Given the description of an element on the screen output the (x, y) to click on. 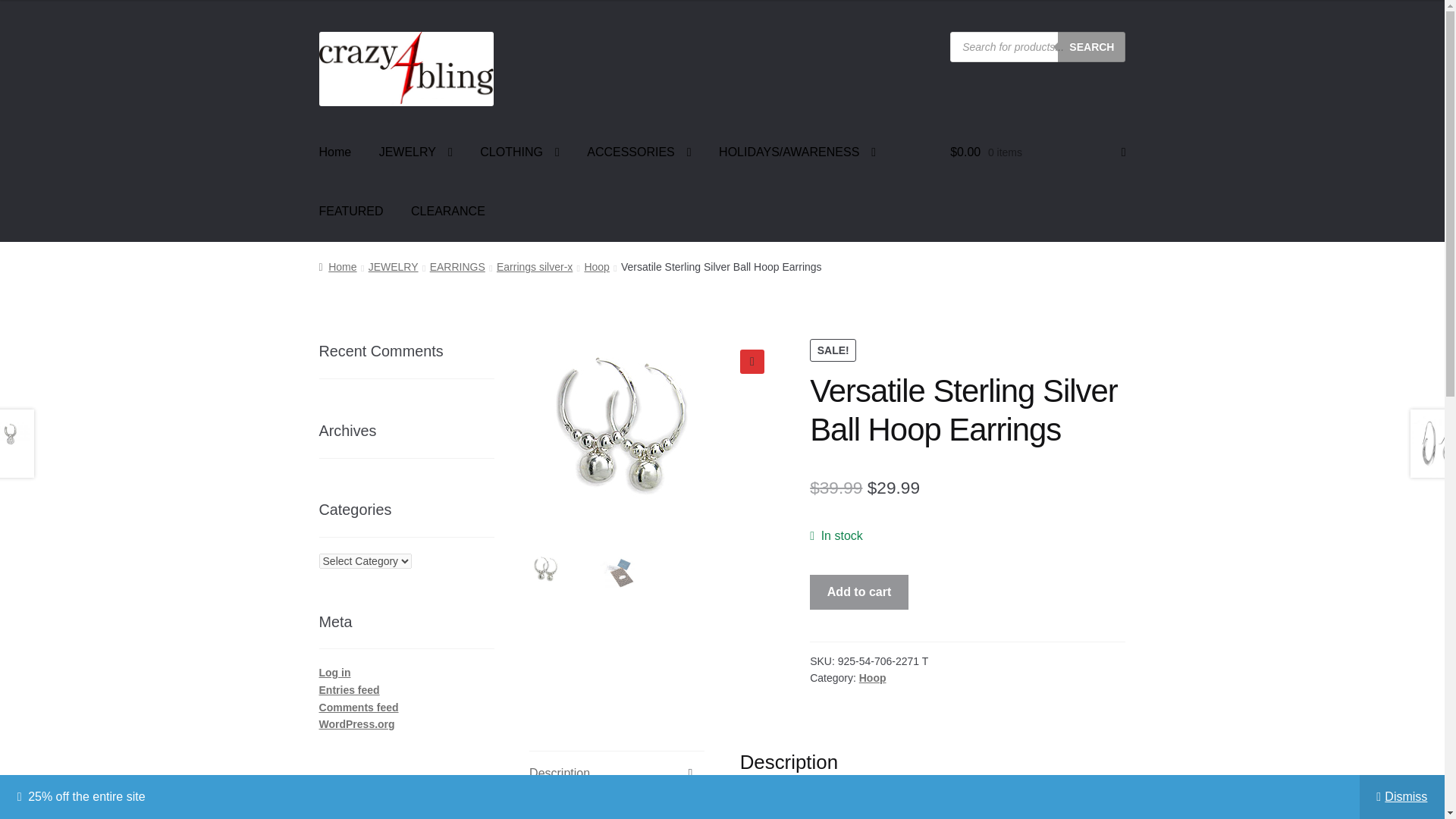
SEARCH (1091, 46)
JEWELRY (415, 151)
View your shopping cart (1037, 151)
Home (335, 151)
2Giftwrap.jpg (897, 461)
